Given the description of an element on the screen output the (x, y) to click on. 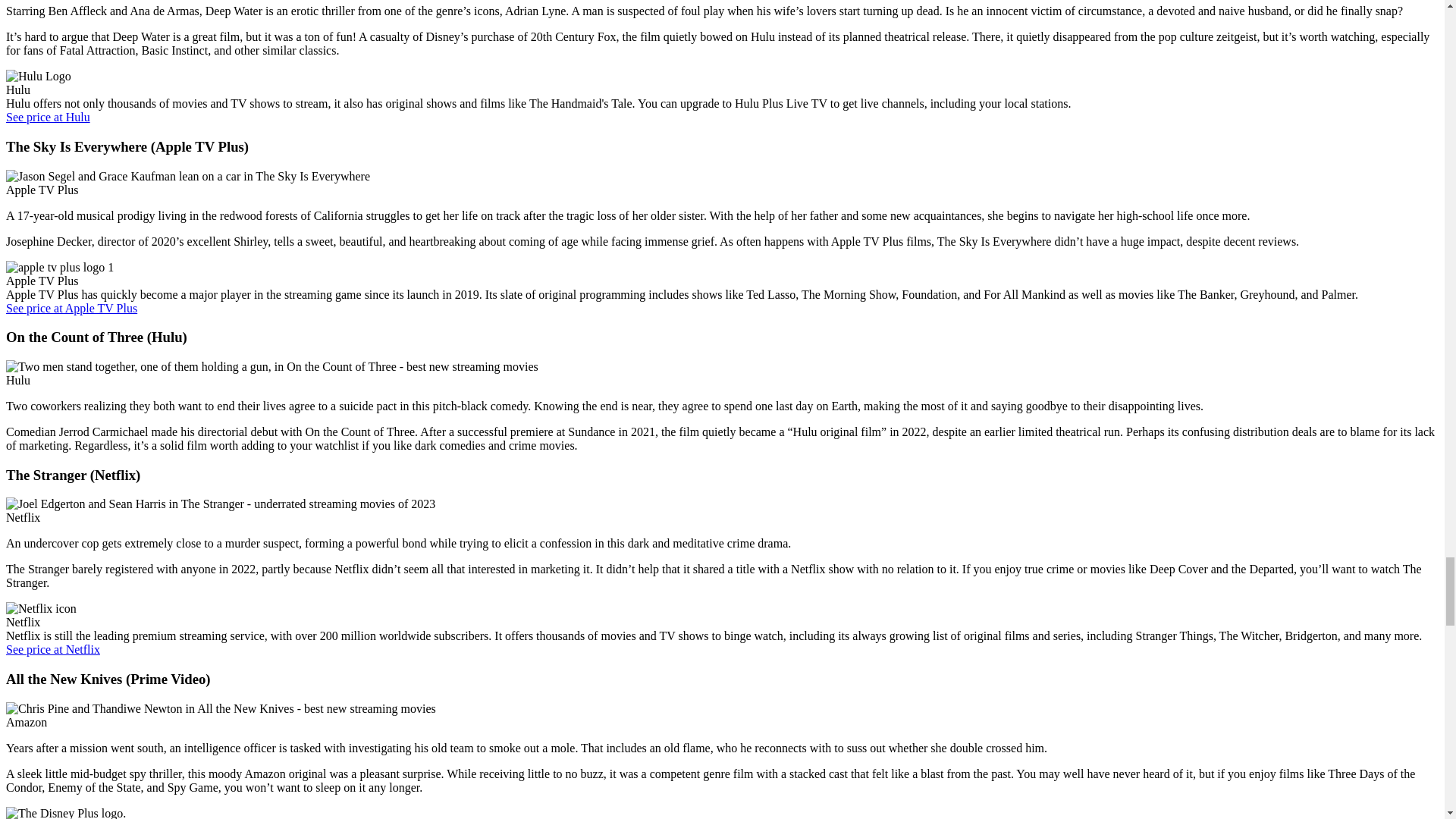
The Stranger (220, 504)
Netflix icon (41, 608)
On the Count of Three (271, 366)
Hulu Logo (38, 76)
All the New Knives (220, 708)
apple tv plus logo 1 (59, 267)
The Sky Is Everywhere (187, 176)
disney plus logo (65, 812)
